Given the description of an element on the screen output the (x, y) to click on. 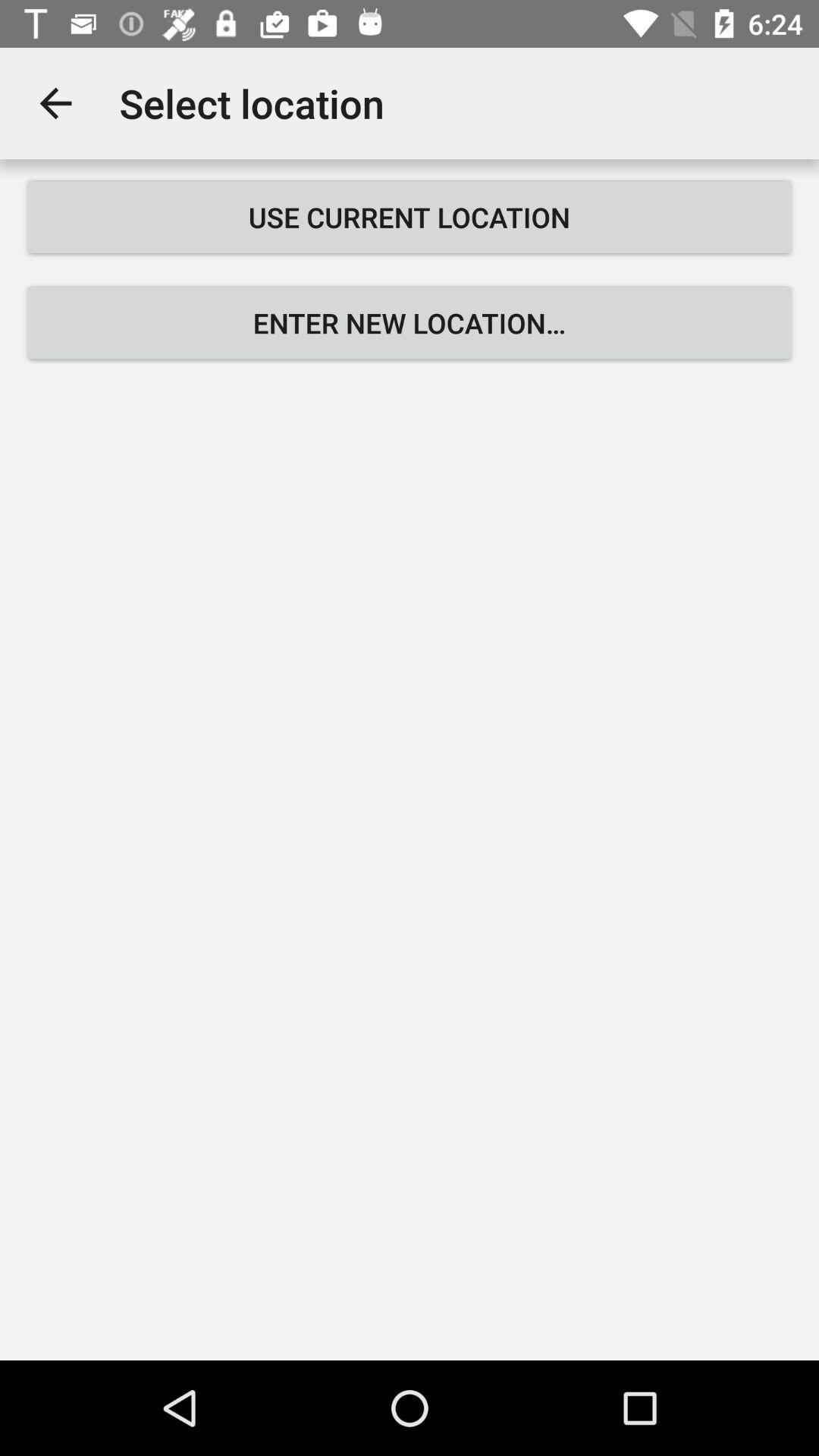
select icon above the use current location (55, 103)
